Given the description of an element on the screen output the (x, y) to click on. 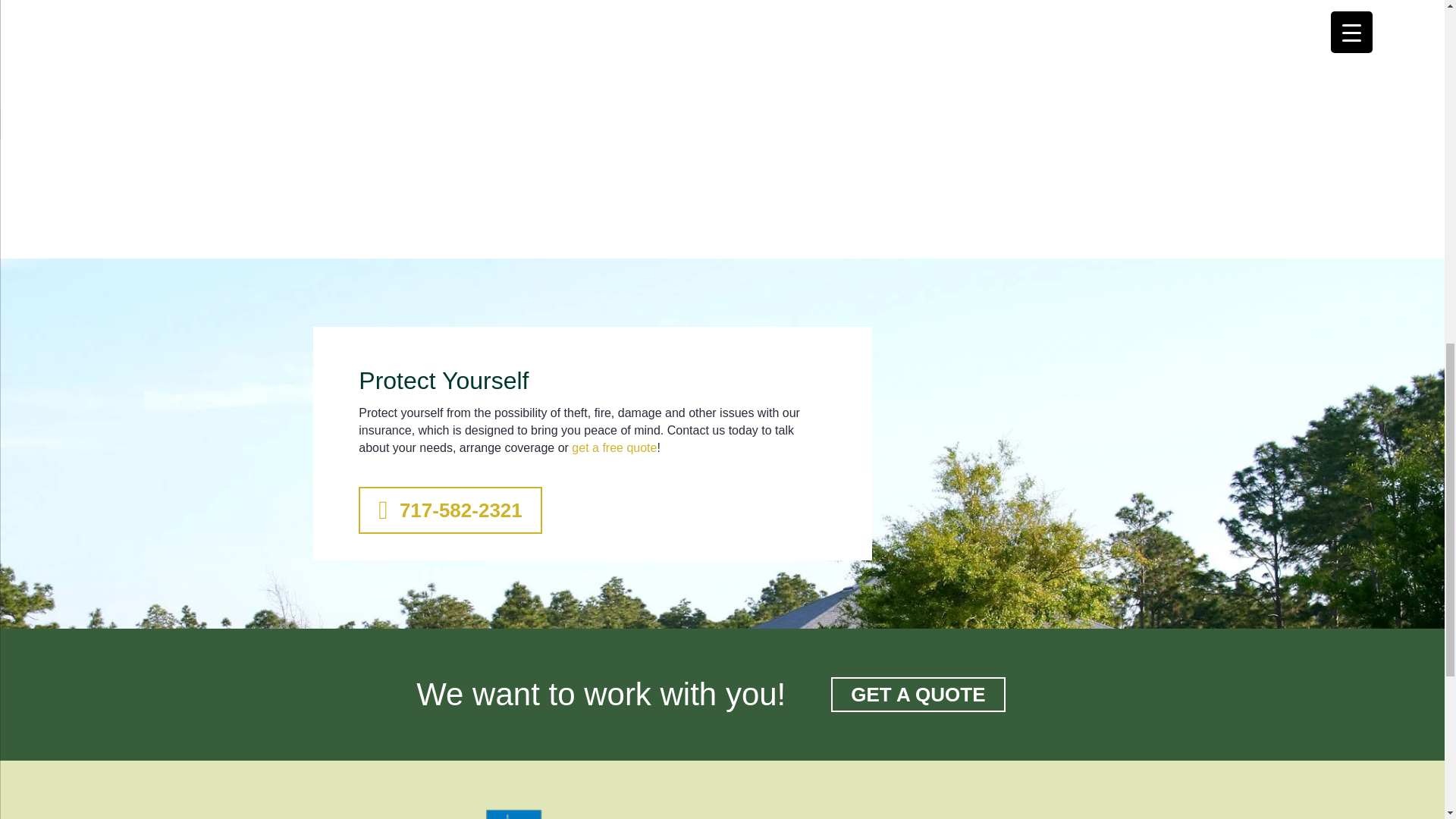
Logo-Erie-Insurance (593, 809)
